Given the description of an element on the screen output the (x, y) to click on. 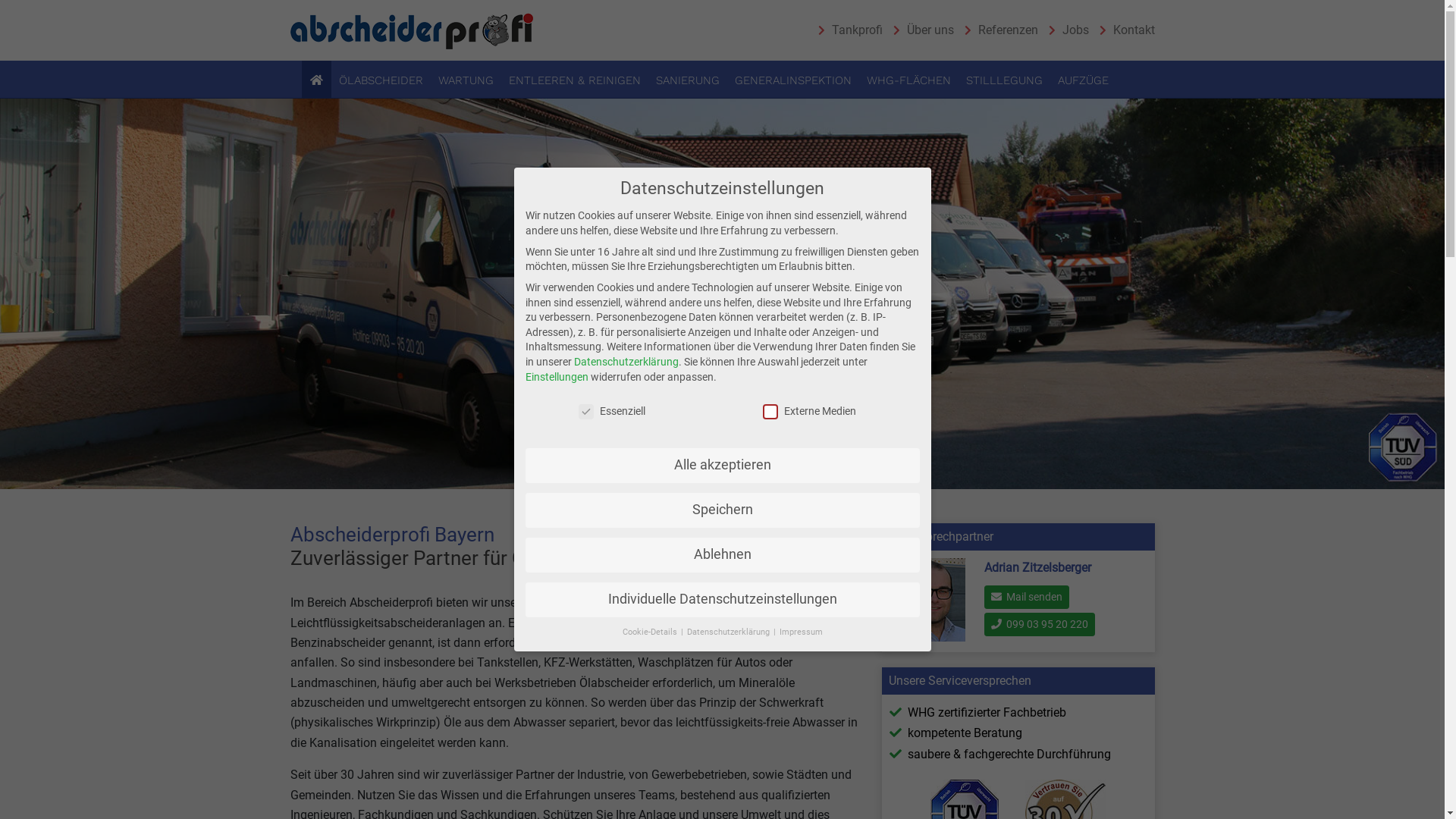
 Mail senden Element type: text (1026, 597)
Tankprofi Element type: text (845, 29)
 099 03 95 20 220 Element type: text (1039, 624)
 Mail senden Element type: text (1026, 596)
SANIERUNG Element type: text (687, 79)
ENTLEEREN & REINIGEN Element type: text (574, 79)
Jobs Element type: text (1064, 29)
Speichern Element type: text (721, 509)
Kontakt Element type: text (1123, 29)
Einstellungen Element type: text (555, 376)
WARTUNG Element type: text (465, 79)
Ablehnen Element type: text (721, 554)
Referenzen Element type: text (997, 29)
Individuelle Datenschutzeinstellungen Element type: text (721, 599)
 099 03 95 20 220 Element type: text (1039, 625)
Impressum Element type: text (800, 632)
Alle akzeptieren Element type: text (721, 465)
STILLLEGUNG Element type: text (1004, 79)
Cookie-Details Element type: text (649, 632)
GENERALINSPEKTION Element type: text (793, 79)
